Given the description of an element on the screen output the (x, y) to click on. 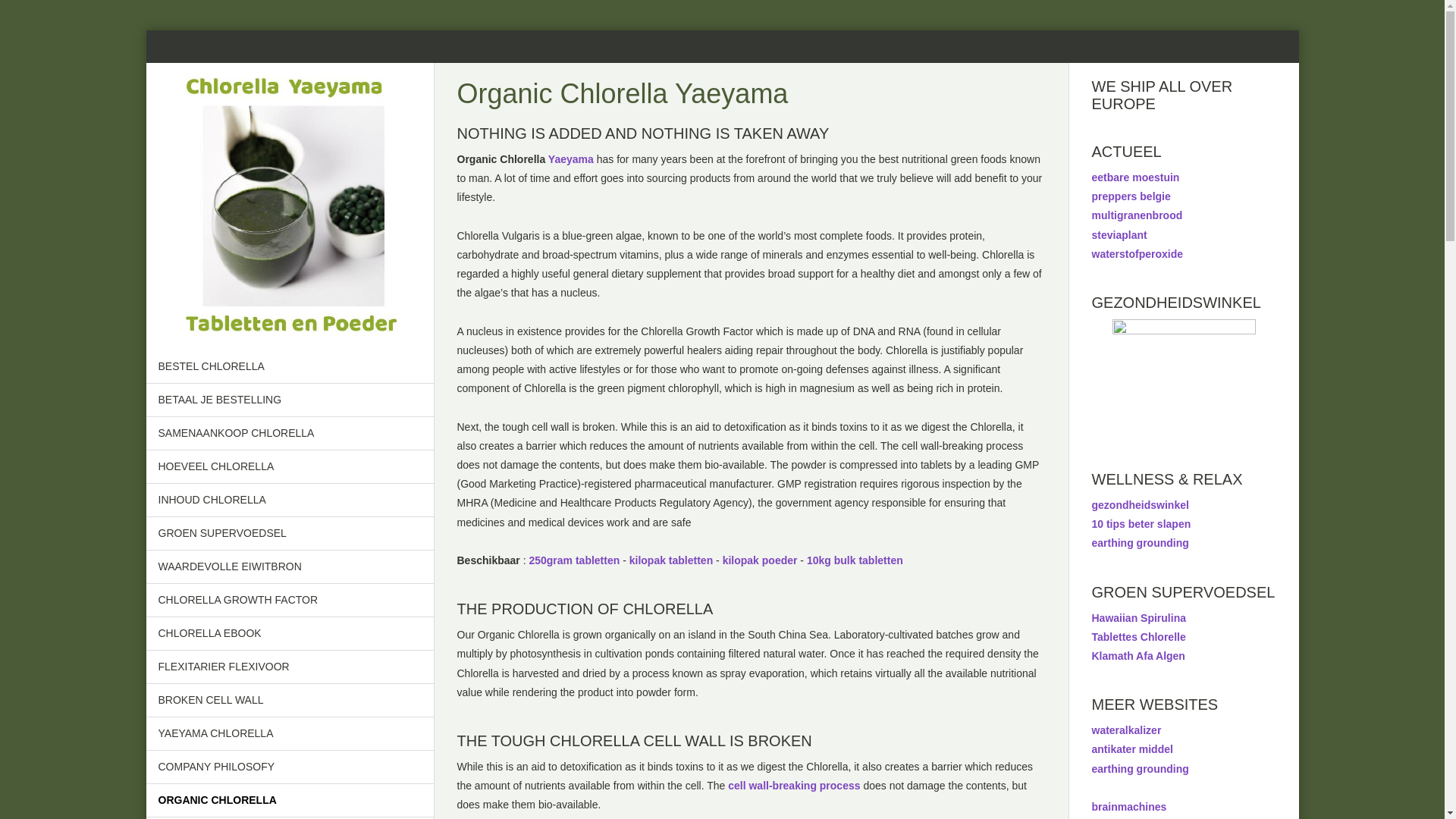
wateralkalizer Element type: text (1126, 730)
BROKEN CELL WALL Element type: text (289, 700)
10 tips beter slapen Element type: text (1141, 523)
eetbare moestuin Element type: text (1135, 177)
CHLORELLA GROWTH FACTOR Element type: text (289, 600)
Hawaiian Spirulina Element type: text (1139, 617)
BESTEL CHLORELLA Element type: text (289, 366)
kilopak tabletten Element type: text (670, 560)
HOEVEEL CHLORELLA Element type: text (289, 466)
SAMENAANKOOP CHLORELLA Element type: text (289, 433)
INHOUD CHLORELLA Element type: text (289, 500)
antikater middel Element type: text (1132, 749)
Klamath Afa Algen Element type: text (1138, 655)
multigranenbrood Element type: text (1137, 215)
CHLORELLA EBOOK Element type: text (289, 633)
BETAAL JE BESTELLING Element type: text (289, 400)
FLEXITARIER FLEXIVOOR Element type: text (289, 667)
Yaeyama Element type: text (570, 159)
earthing grounding Element type: text (1140, 542)
Tablettes Chlorelle Element type: text (1139, 636)
cell wall-breaking process Element type: text (793, 785)
COMPANY PHILOSOFY Element type: text (289, 767)
10kg bulk tabletten Element type: text (854, 560)
brainmachines Element type: text (1129, 806)
kilopak poeder Element type: text (759, 560)
ORGANIC CHLORELLA Element type: text (289, 800)
YAEYAMA CHLORELLA Element type: text (289, 733)
preppers belgie Element type: text (1131, 196)
250gram tabletten Element type: text (573, 560)
waterstofperoxide Element type: text (1137, 253)
GROEN SUPERVOEDSEL Element type: text (289, 533)
earthing grounding Element type: text (1140, 768)
steviaplant Element type: text (1119, 235)
WAARDEVOLLE EIWITBRON Element type: text (289, 566)
gezondheidswinkel Element type: text (1140, 504)
